Given the description of an element on the screen output the (x, y) to click on. 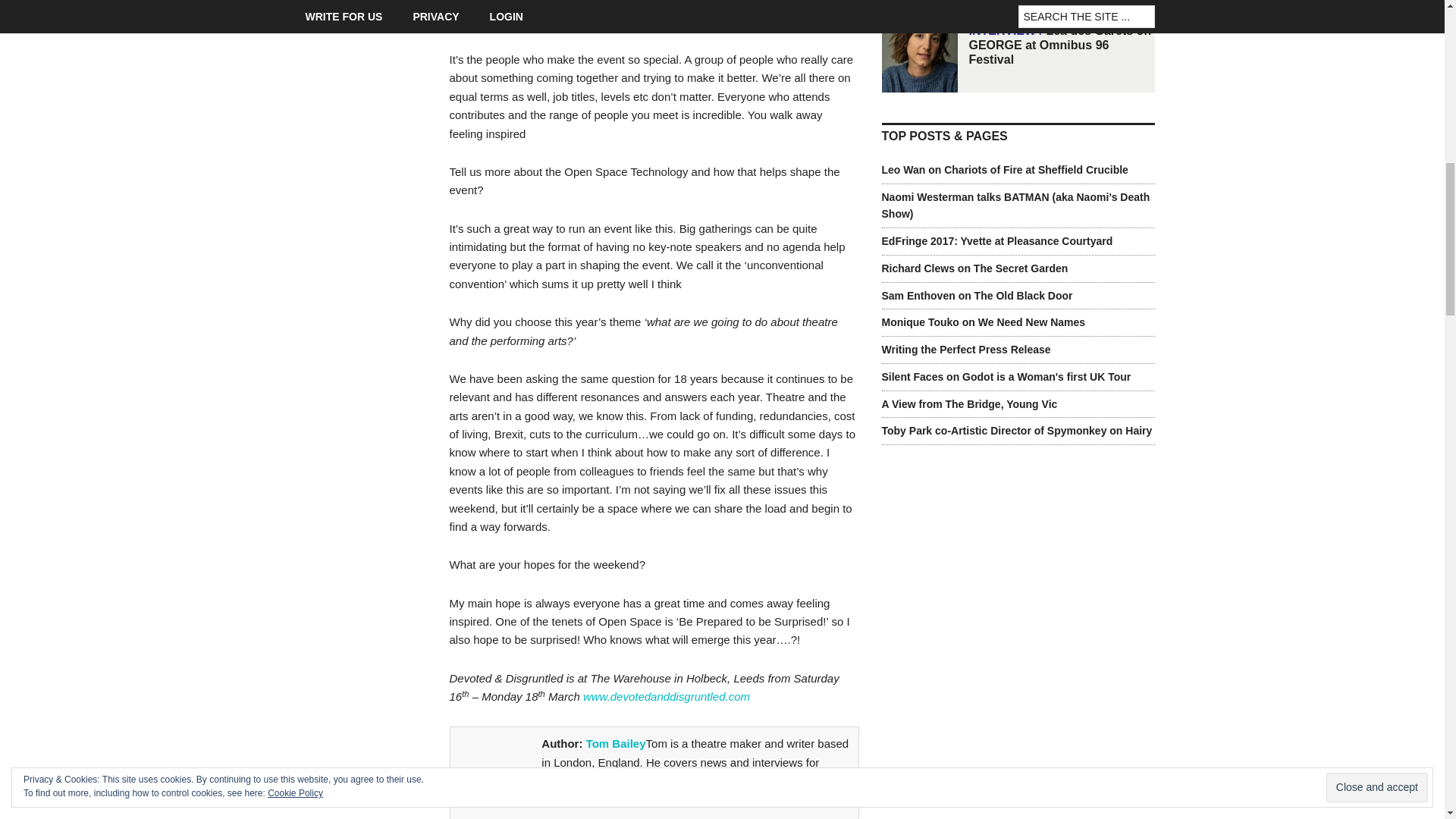
www.devotedanddisgruntled.com (666, 696)
Leo Wan on Chariots of Fire at Sheffield Crucible (1003, 169)
Tom Bailey (616, 743)
